Given the description of an element on the screen output the (x, y) to click on. 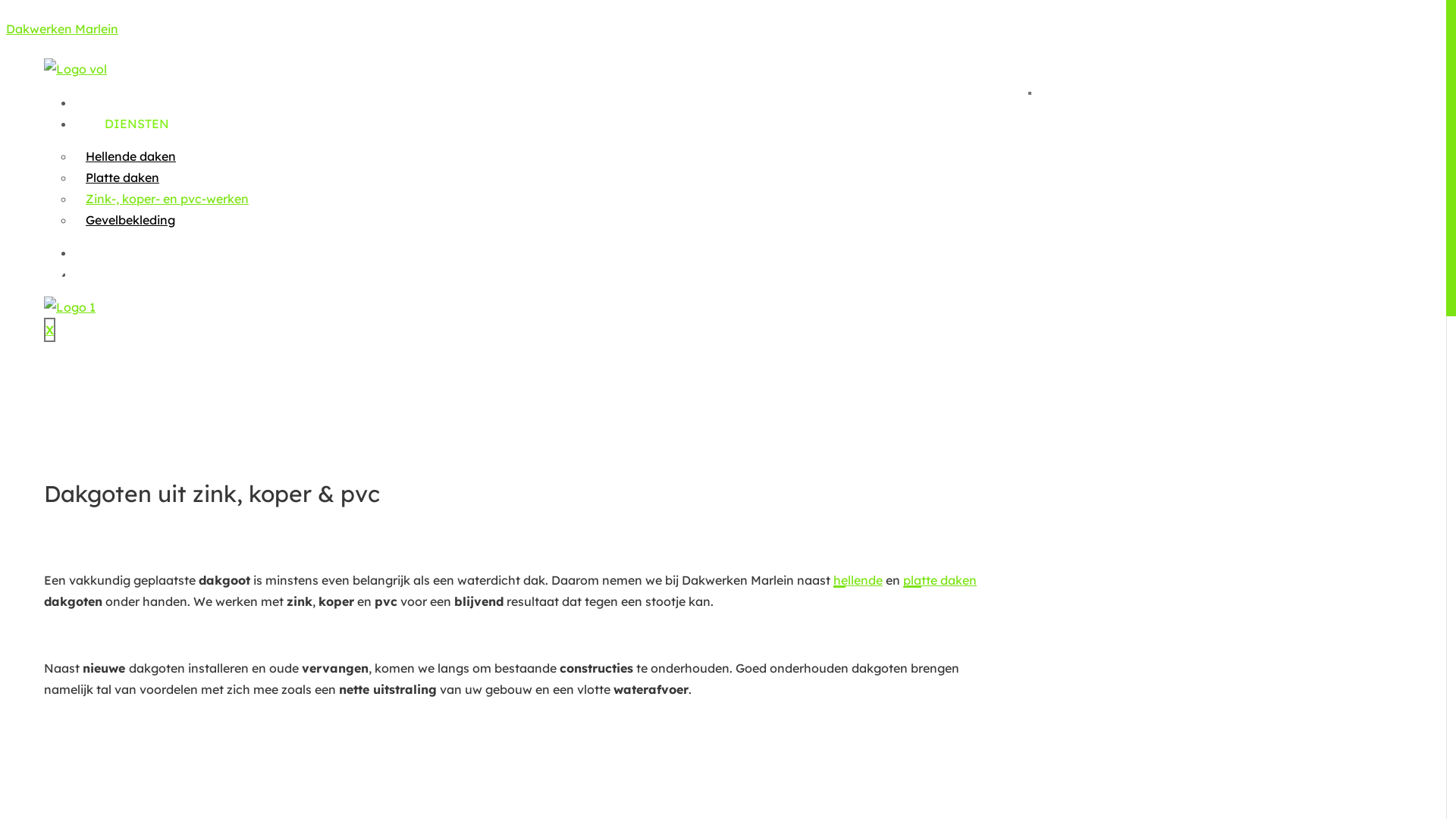
platte daken Element type: text (939, 579)
REALISATIES Element type: text (129, 252)
Hellende daken Element type: text (130, 156)
DIENSTEN Element type: text (121, 123)
HOME Element type: text (107, 101)
Zink-, koper- en pvc-werken Element type: text (167, 198)
hellende Element type: text (857, 579)
CONTACT Element type: text (118, 273)
Dakwerken Marlein Element type: text (62, 28)
X Element type: text (49, 329)
Gevelbekleding Element type: text (130, 219)
Platte daken Element type: text (122, 177)
